Given the description of an element on the screen output the (x, y) to click on. 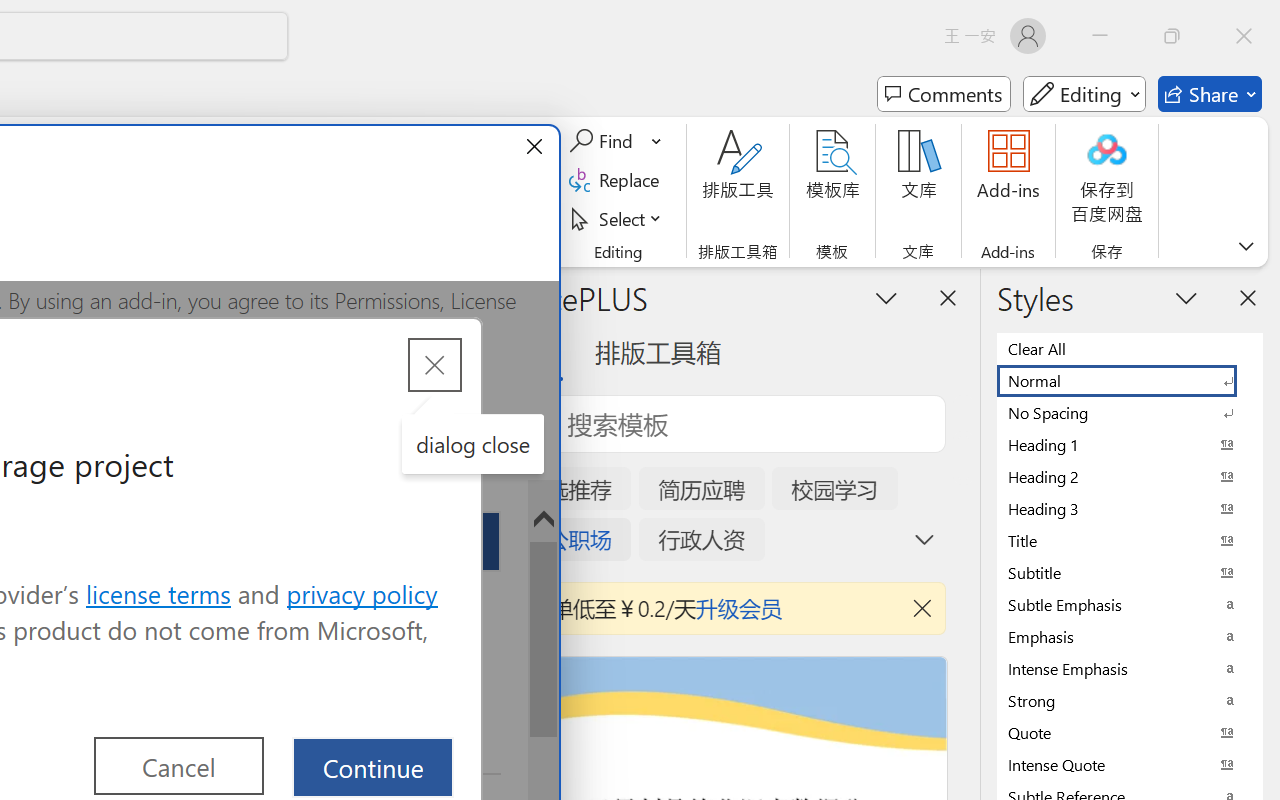
Restore Down (1172, 36)
Heading 2 (1130, 476)
dialog close (472, 443)
Mode (1083, 94)
Subtle Emphasis (1130, 604)
Share (1210, 94)
Close (1244, 36)
Title (1130, 540)
More Options (657, 141)
Heading 1 (1130, 444)
Class: NetUIImage (1116, 764)
Intense Emphasis (1130, 668)
